Given the description of an element on the screen output the (x, y) to click on. 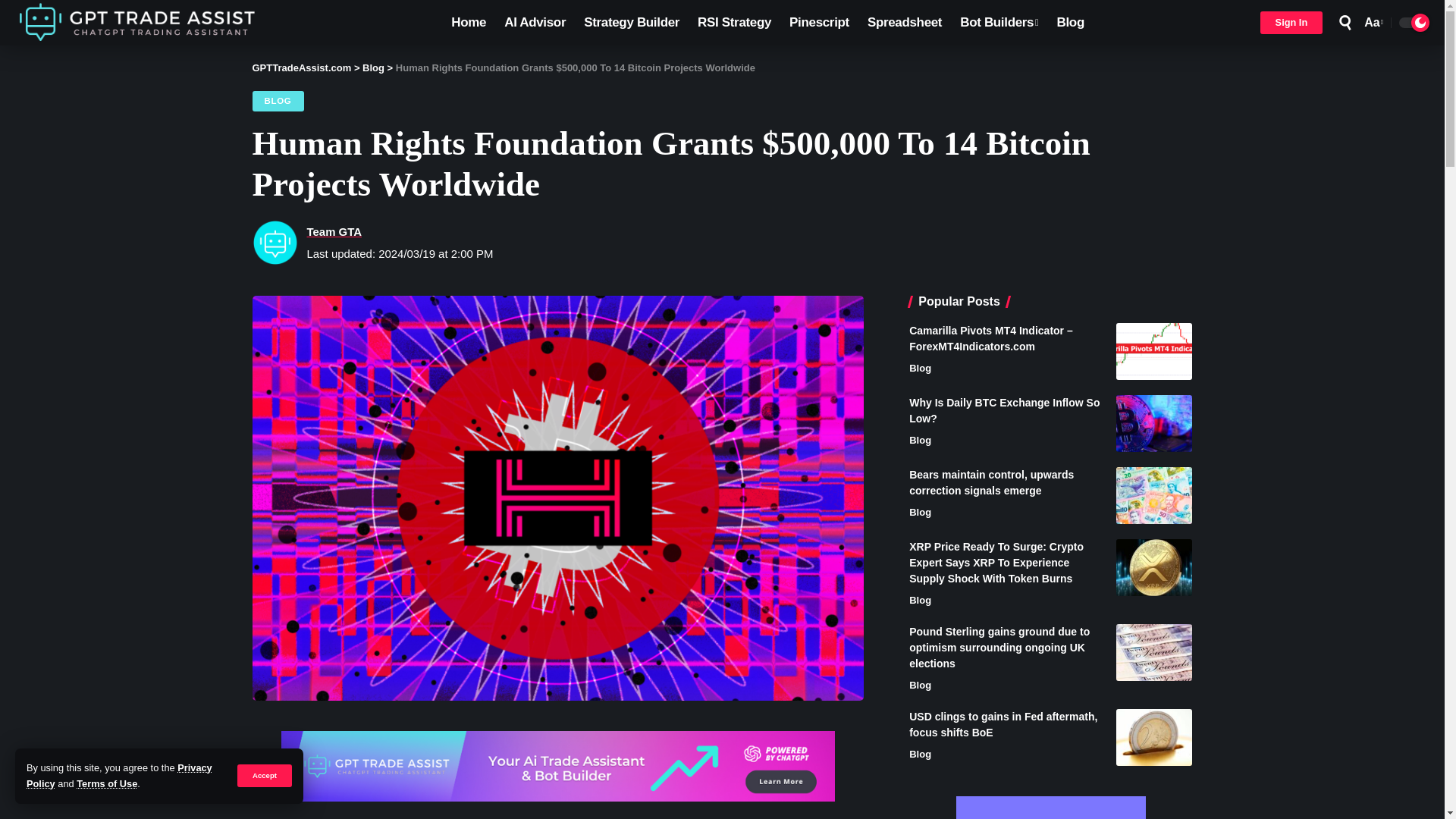
GPTTradeAssist.com (139, 22)
Privacy Policy (119, 775)
AI Advisor (535, 22)
Go to the Blog Category archives. (373, 67)
Sign In (1291, 22)
Accept (264, 775)
Go to GPTTradeAssist.com. (300, 67)
RSI Strategy (734, 22)
Strategy Builder (631, 22)
Bears maintain control, upwards correction signals emerge (1154, 495)
Terms of Use (106, 783)
Aa (1371, 22)
Blog (1070, 22)
Home (468, 22)
Spreadsheet (904, 22)
